Given the description of an element on the screen output the (x, y) to click on. 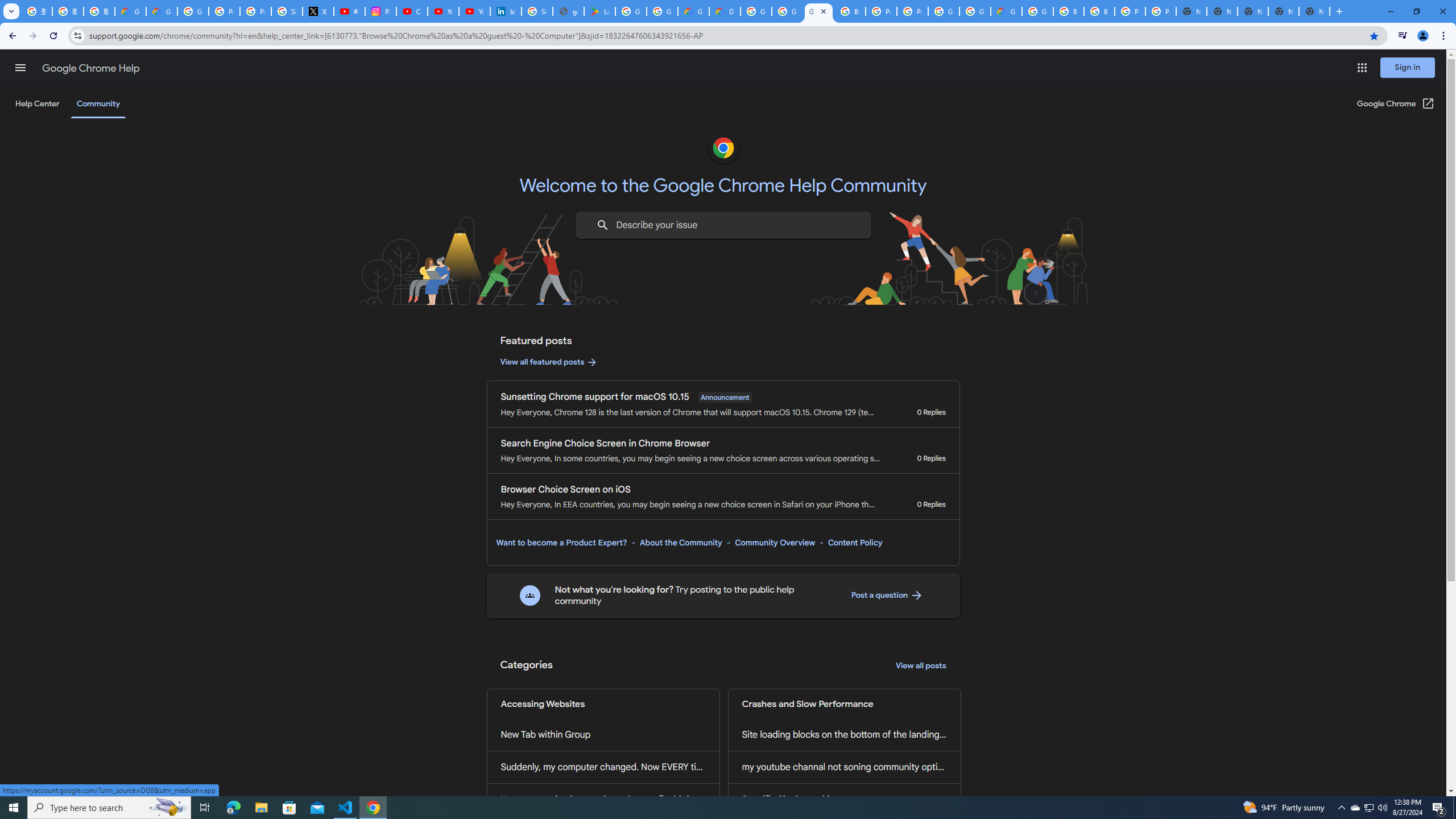
Google Cloud Platform (1037, 11)
X (318, 11)
Google Chrome (Open in a new window) (1395, 103)
Google Cloud Privacy Notice (130, 11)
